Given the description of an element on the screen output the (x, y) to click on. 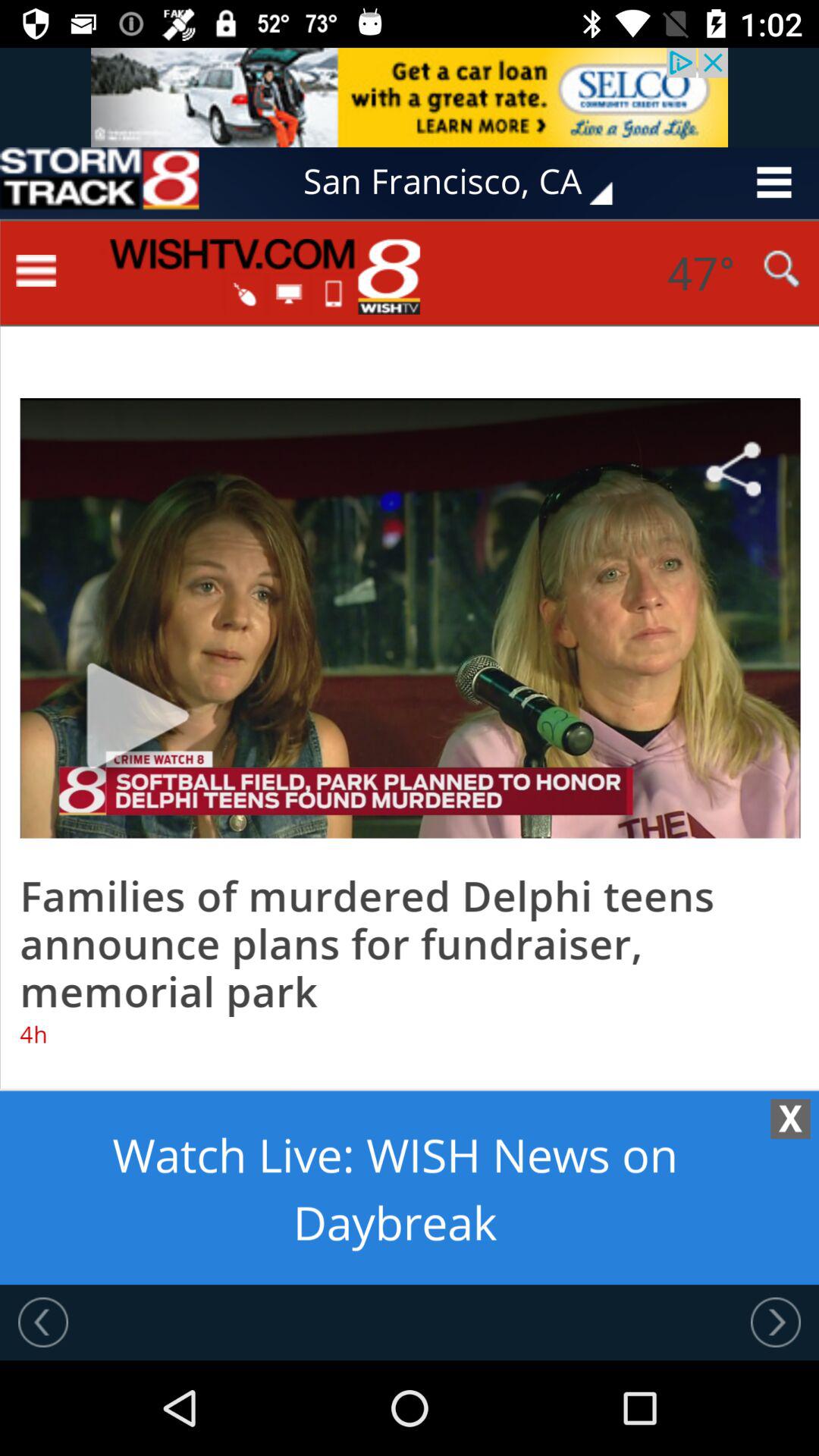
rewind button (43, 1322)
